Given the description of an element on the screen output the (x, y) to click on. 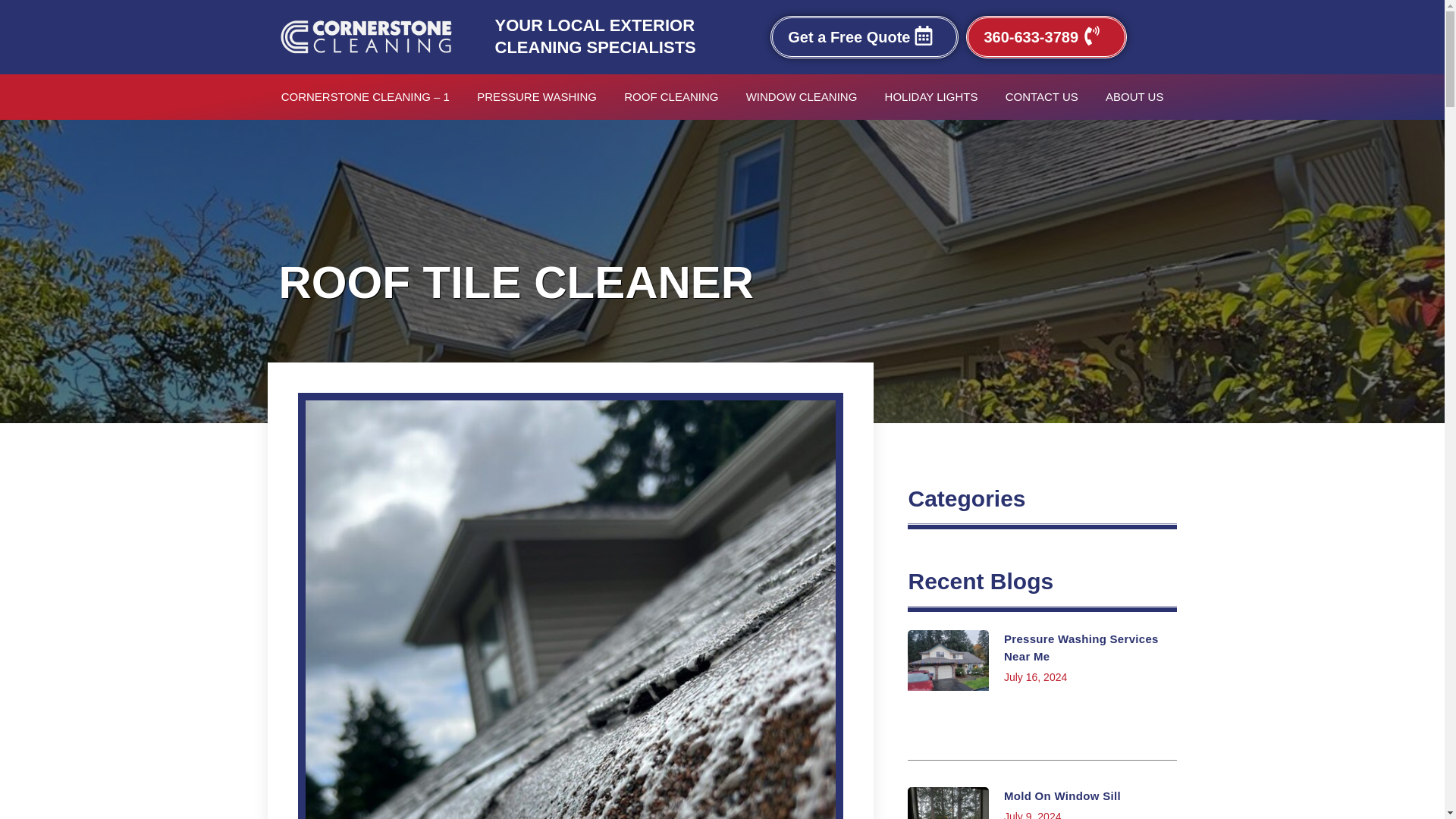
360-633-3789 (1046, 36)
HOLIDAY LIGHTS (930, 96)
WINDOW CLEANING (801, 96)
ROOF CLEANING (671, 96)
PRESSURE WASHING (536, 96)
Get a Free Quote (864, 36)
CONTACT US (1041, 96)
